Given the description of an element on the screen output the (x, y) to click on. 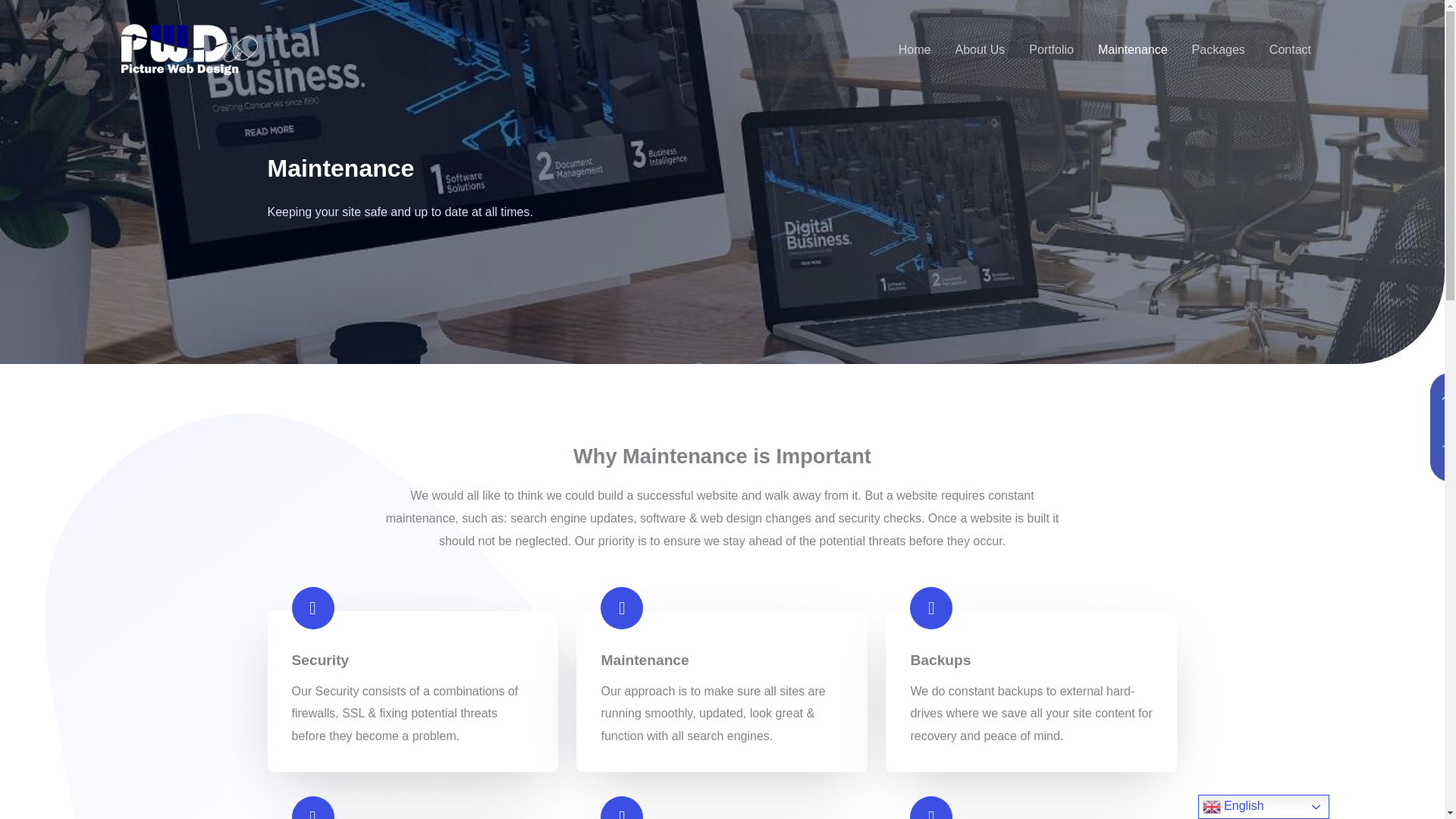
Contact (1290, 49)
Home (914, 49)
Packages (1218, 49)
Portfolio (1051, 49)
English (1263, 806)
Maintenance (1132, 49)
About Us (979, 49)
